Given the description of an element on the screen output the (x, y) to click on. 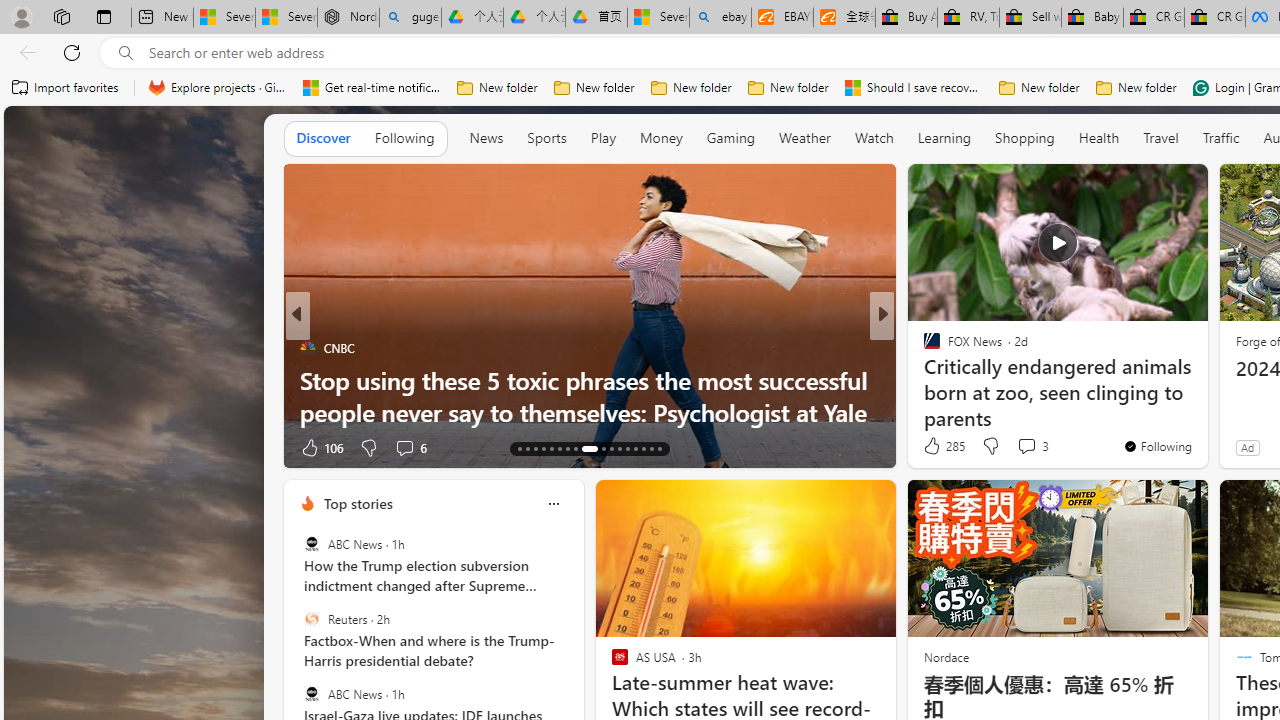
Travel (1160, 137)
ABC News (311, 693)
Class: icon-img (553, 503)
Learning (944, 137)
285 Like (942, 446)
AutomationID: tab-13 (518, 448)
Shopping (1025, 137)
Health (1098, 138)
Lifewire (307, 380)
Storyful (923, 347)
